Given the description of an element on the screen output the (x, y) to click on. 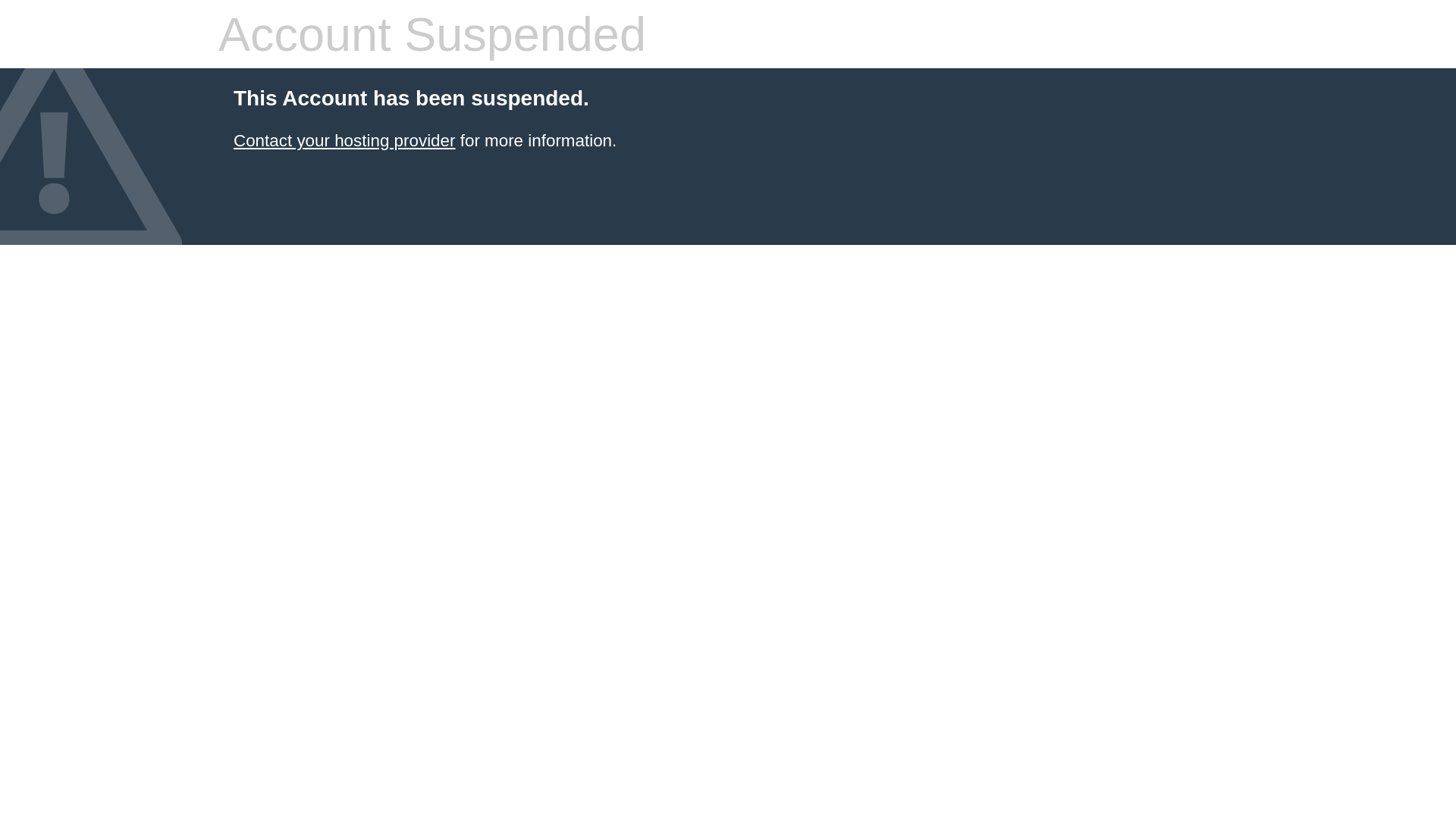
Contact your hosting provider Element type: text (344, 140)
